Given the description of an element on the screen output the (x, y) to click on. 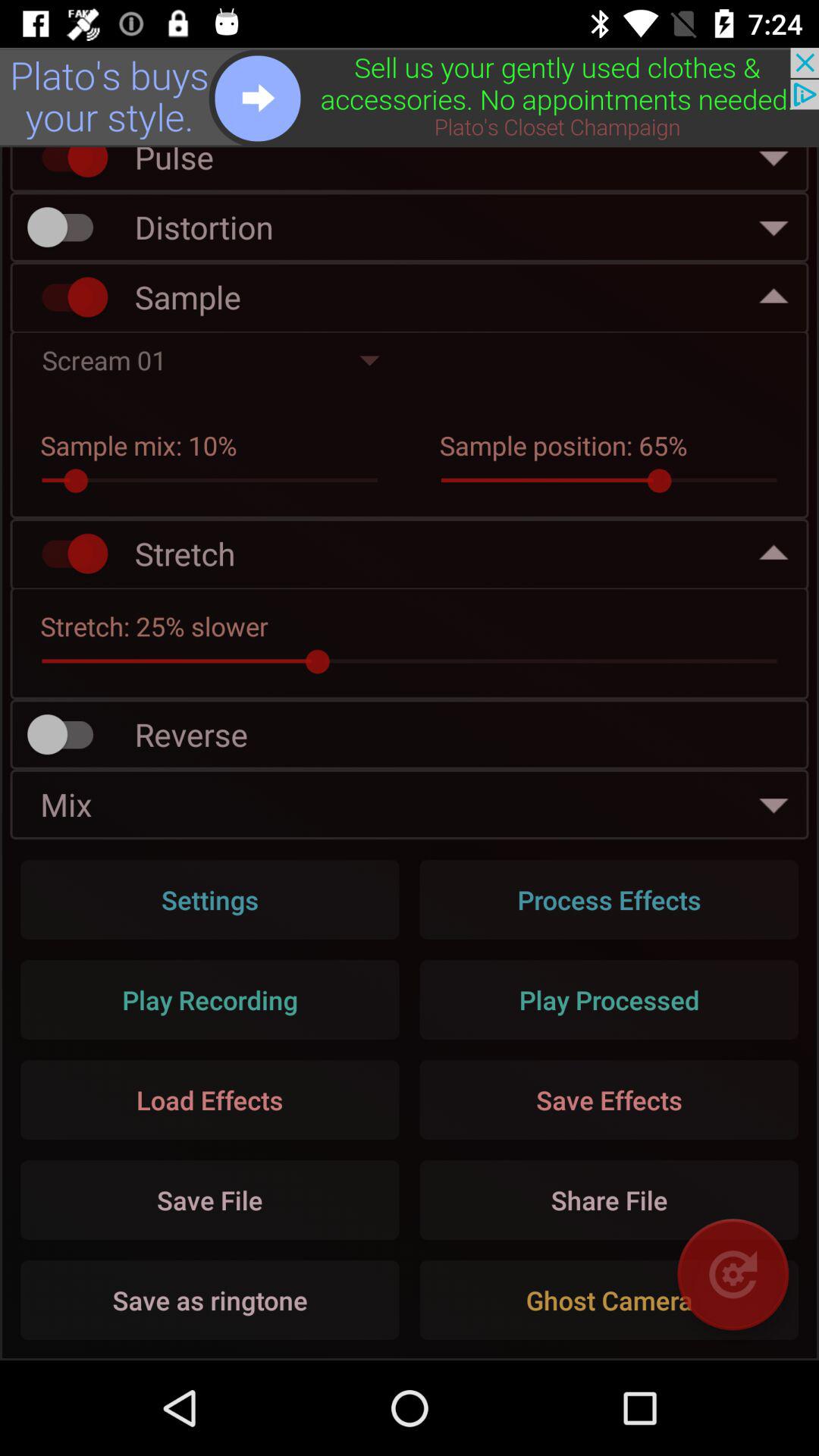
toggle stretch option (67, 553)
